Given the description of an element on the screen output the (x, y) to click on. 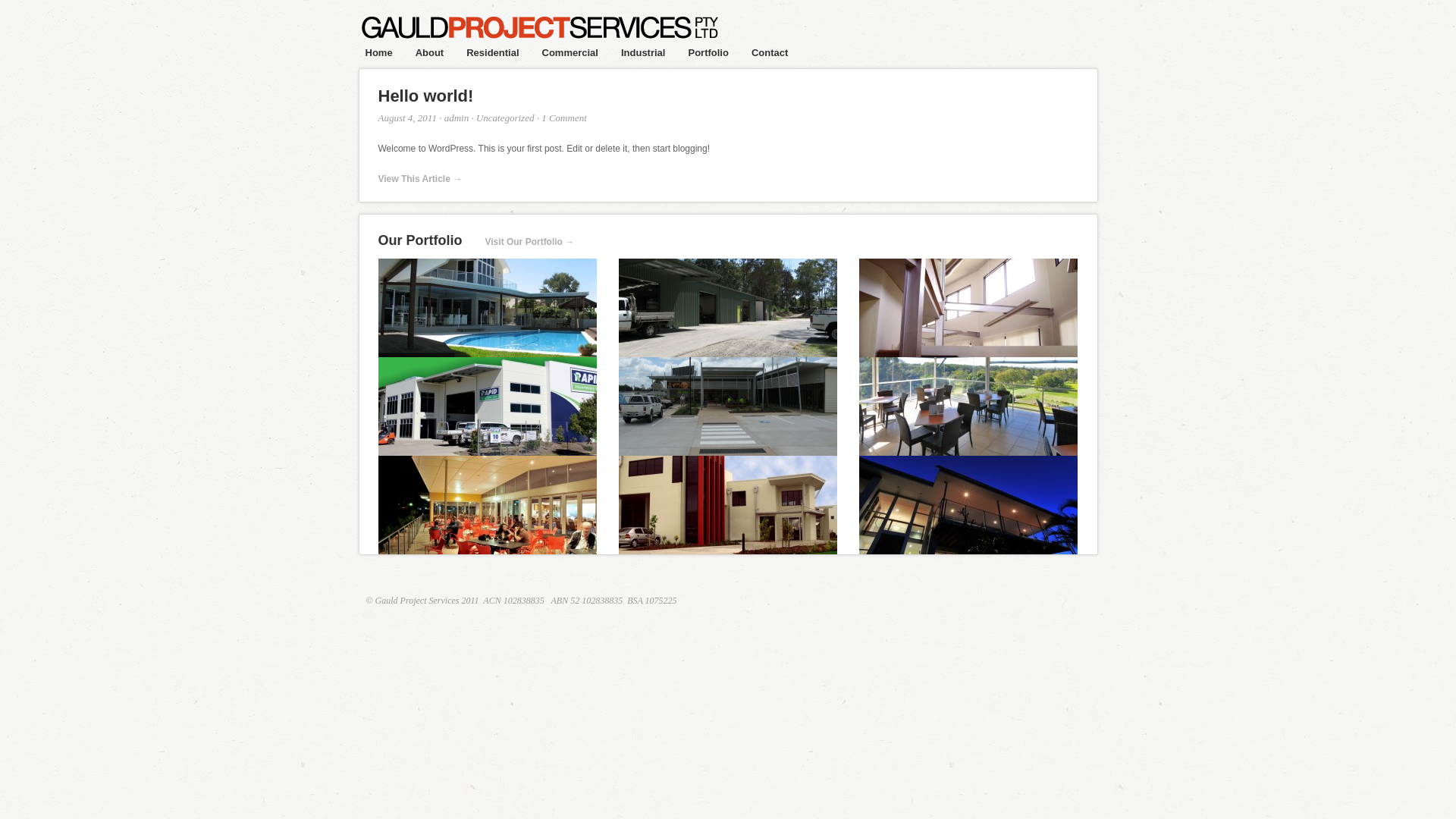
HeadlandAlfresco_01 Element type: hover (967, 406)
RapidHire_01 Element type: hover (486, 406)
Definium_01 Element type: hover (727, 504)
admin Element type: text (456, 117)
Peregian1_24 Element type: hover (967, 504)
Portfolio Element type: text (707, 53)
MobyVics_04 Element type: hover (727, 406)
CoolumSLSC_05 Element type: hover (486, 504)
Hello world! Element type: text (425, 95)
Home Element type: text (378, 53)
About Element type: text (429, 53)
DefiniumHQ_04 Element type: hover (967, 307)
Uncategorized Element type: text (505, 117)
HeadlandShed_04 Element type: hover (727, 307)
Industrial Element type: text (643, 53)
Residential Element type: text (492, 53)
Commercial Element type: text (570, 53)
Contact Element type: text (769, 53)
1 Comment Element type: text (563, 117)
Kawana_03 Element type: hover (486, 307)
